Given the description of an element on the screen output the (x, y) to click on. 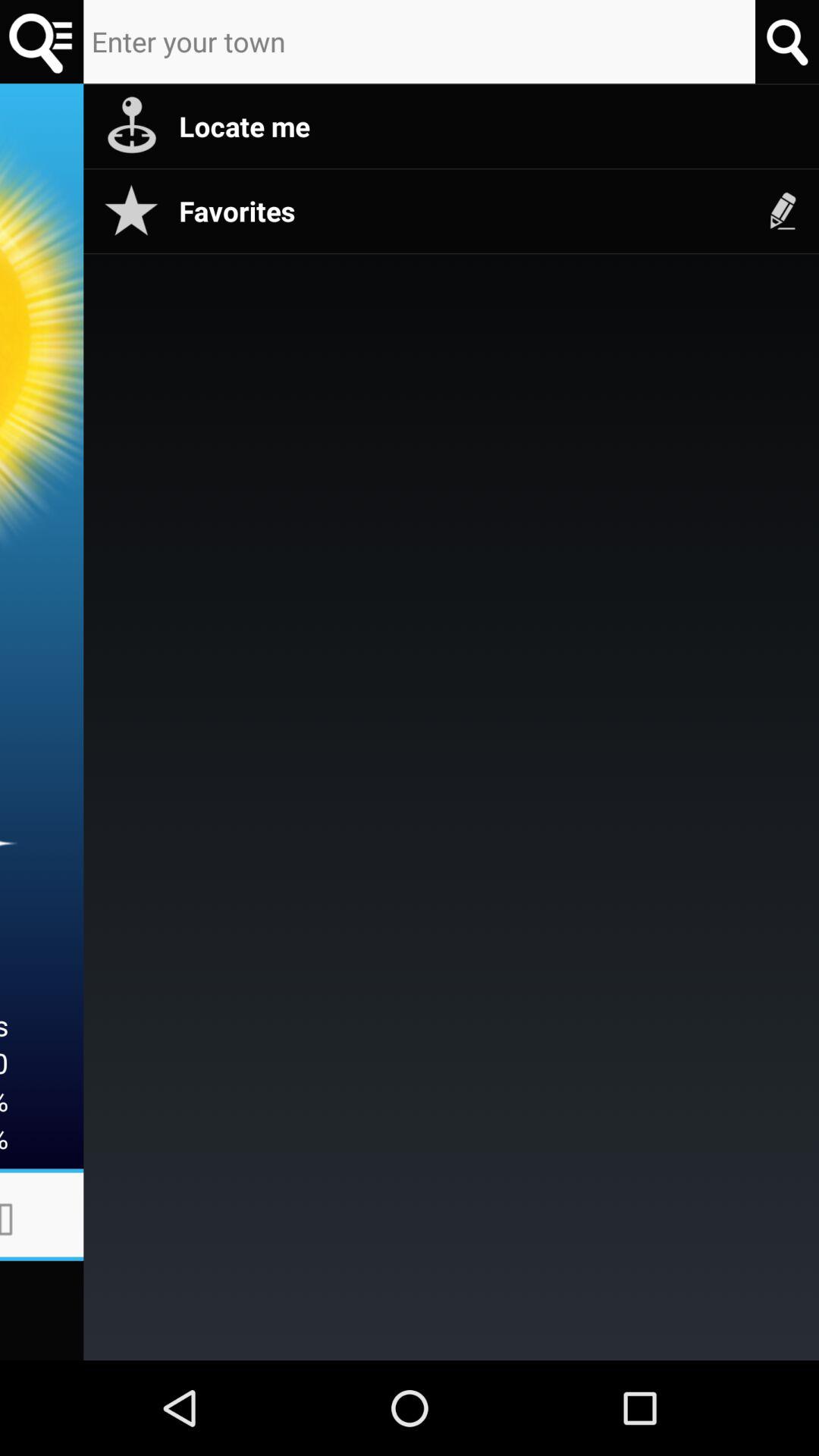
enter my town (419, 41)
